Given the description of an element on the screen output the (x, y) to click on. 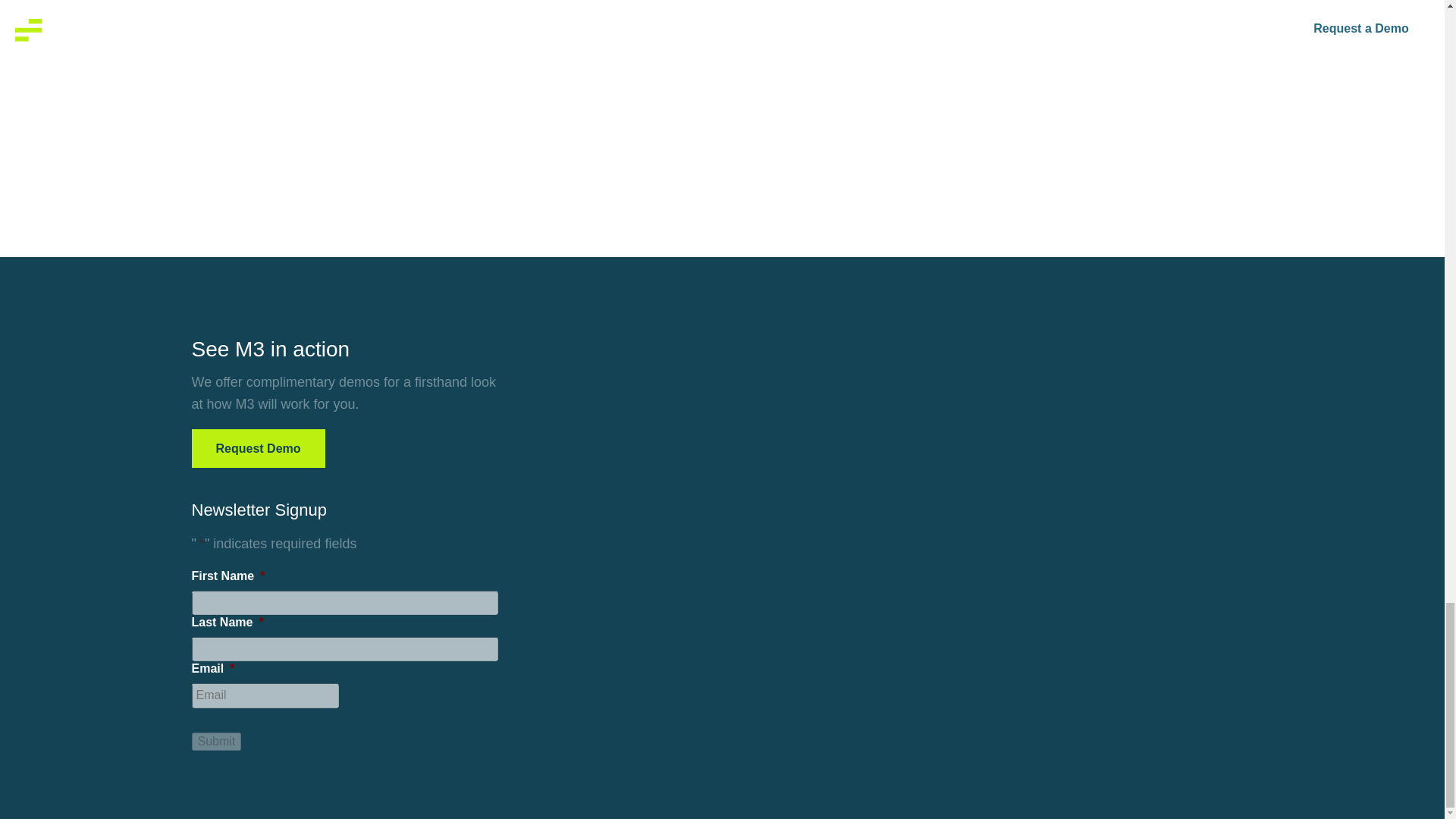
Submit (215, 741)
Submit (215, 741)
Request Demo (257, 448)
